Given the description of an element on the screen output the (x, y) to click on. 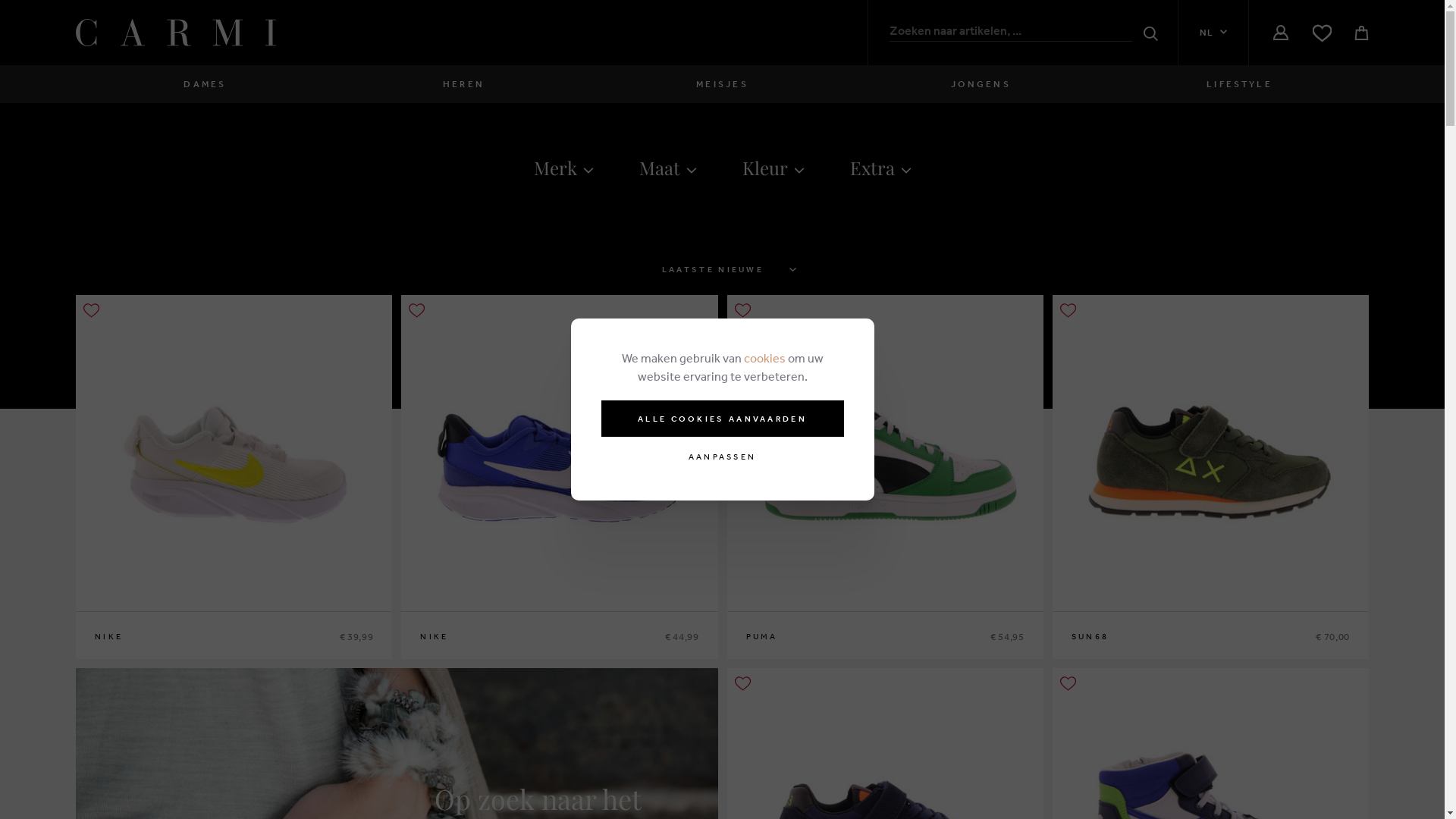
LIFESTYLE Element type: text (1239, 84)
WINKELS Element type: text (98, 641)
Zoeken Element type: text (1147, 32)
COOKIES Element type: text (415, 657)
E. INFO@CARMI.BE Element type: text (675, 641)
DISCLAIMER Element type: text (423, 675)
ALGEMENE VOORWAARDEN Element type: text (462, 641)
RETOUR Element type: text (412, 607)
Maat Element type: text (666, 171)
Kleur Element type: text (772, 171)
T. +32 (0)16 61 71 60 Element type: text (680, 658)
DAMES Element type: text (204, 84)
Extra Element type: text (879, 171)
Bekijk je winkelmandje Element type: hover (1361, 32)
JOBS Element type: text (231, 657)
CONTACT Element type: text (100, 657)
MERKEN Element type: text (97, 607)
JONGENS Element type: text (980, 84)
CADEAUBON Element type: text (250, 607)
cookies Element type: text (763, 357)
Aanmelden Element type: hover (1280, 32)
BLOG Element type: text (89, 623)
HEREN Element type: text (463, 84)
VEELGESTELDE VRAGEN Element type: text (455, 623)
NL Element type: text (1212, 32)
MEISJES Element type: text (722, 84)
WEBSITE BY Element type: text (1294, 739)
Bekijk je verlanglijstje Element type: hover (1322, 32)
AANPASSEN Element type: text (721, 457)
ALLE COOKIES AANVAARDEN Element type: text (721, 418)
KLANTENKAART Element type: text (258, 623)
OVER CARMI Element type: text (250, 641)
Merk Element type: text (563, 171)
